Given the description of an element on the screen output the (x, y) to click on. 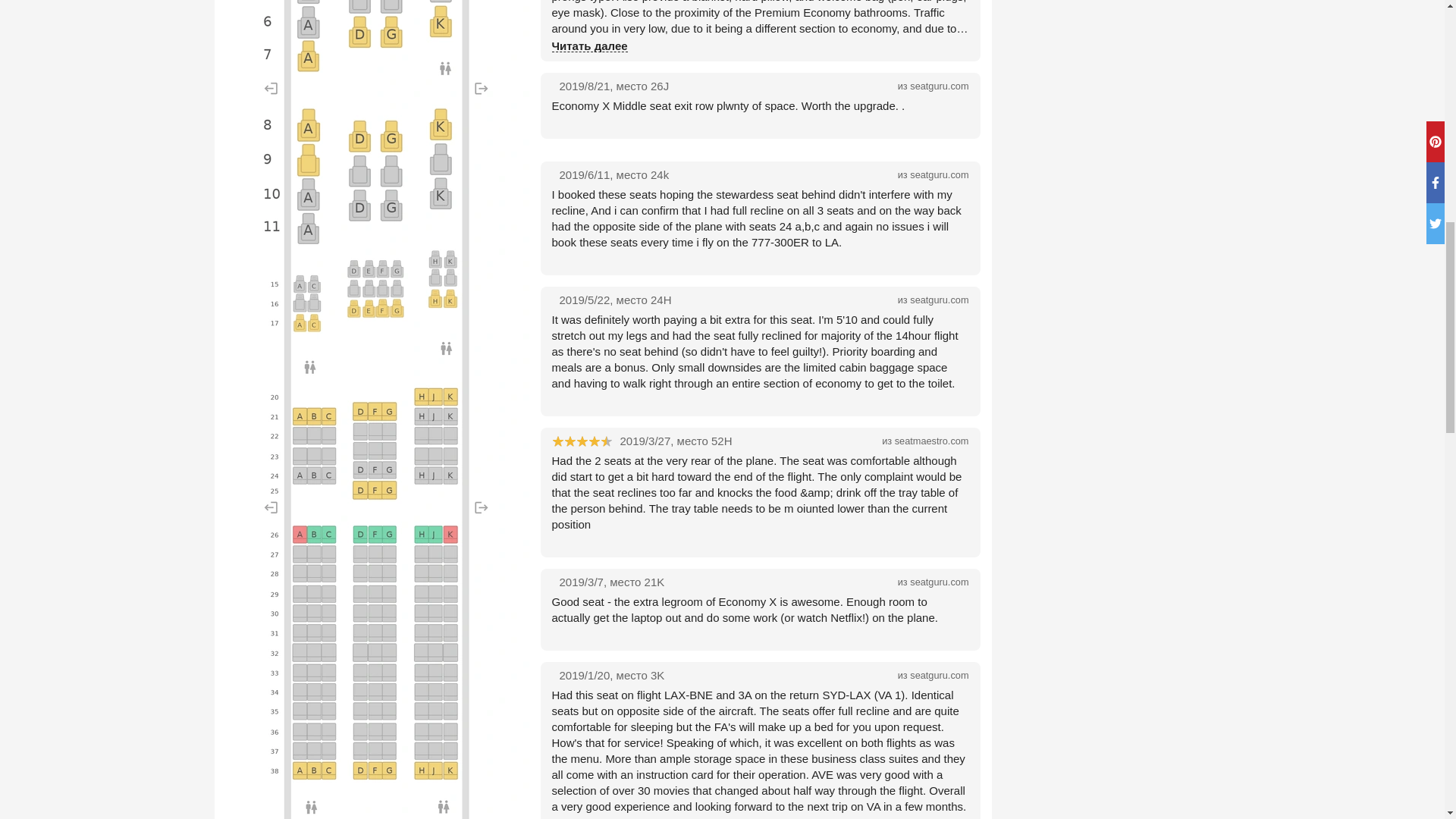
seatguru.com (939, 674)
seatguru.com (939, 174)
seatguru.com (939, 299)
seatguru.com (939, 85)
seatguru.com (939, 582)
seatmaestro.com (932, 440)
